Given the description of an element on the screen output the (x, y) to click on. 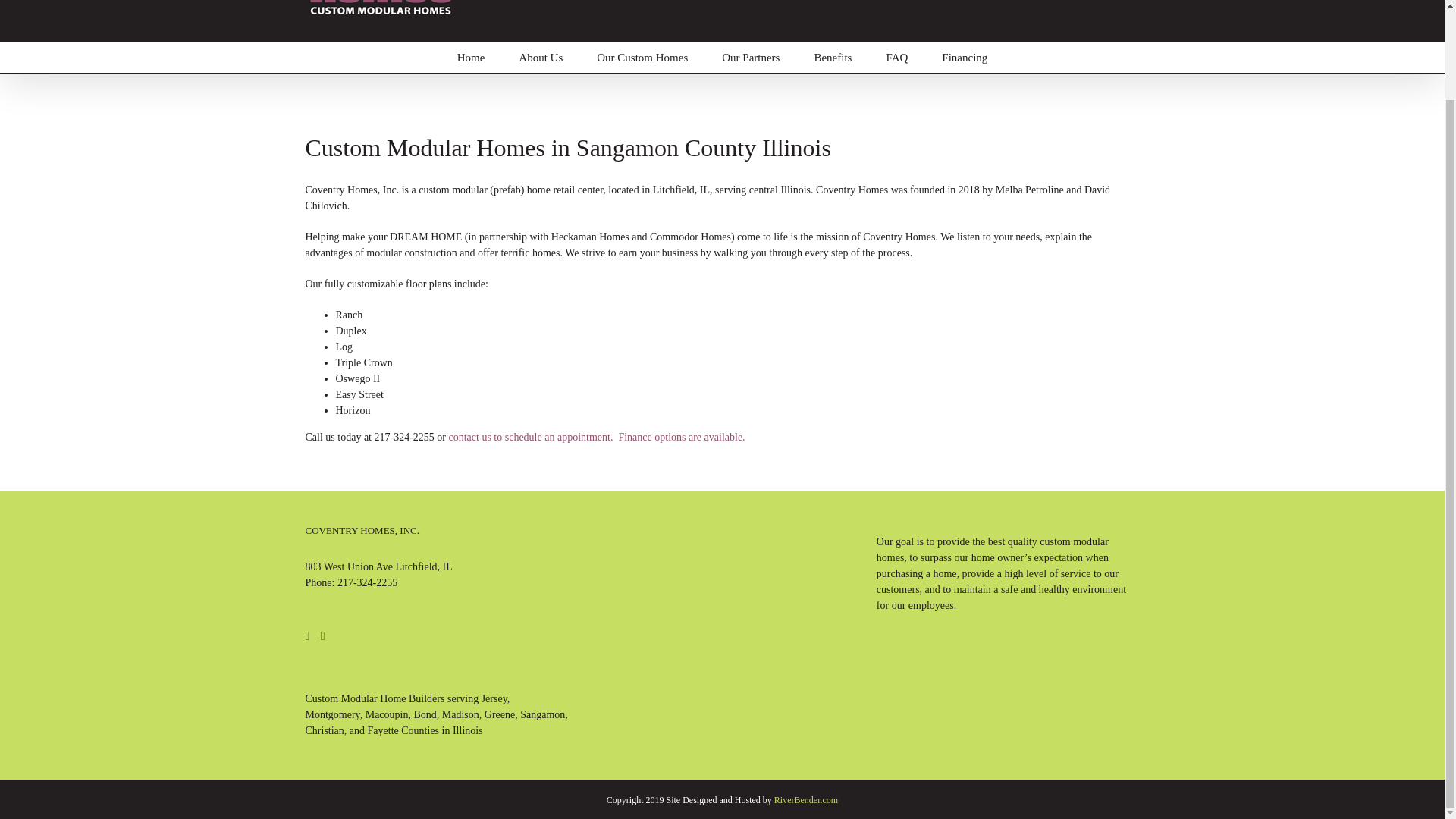
Home (470, 57)
Jersey (493, 698)
Madison (460, 714)
Finance options are available.  (682, 437)
Montgomery (331, 714)
FAQ (896, 57)
Our Partners (750, 57)
About Us (540, 57)
Macoupin (387, 714)
Bond (424, 714)
Our Custom Homes (641, 57)
Financing (964, 57)
217-324-2255 (367, 582)
Benefits (832, 57)
contact us to schedule an appointment. (530, 437)
